Given the description of an element on the screen output the (x, y) to click on. 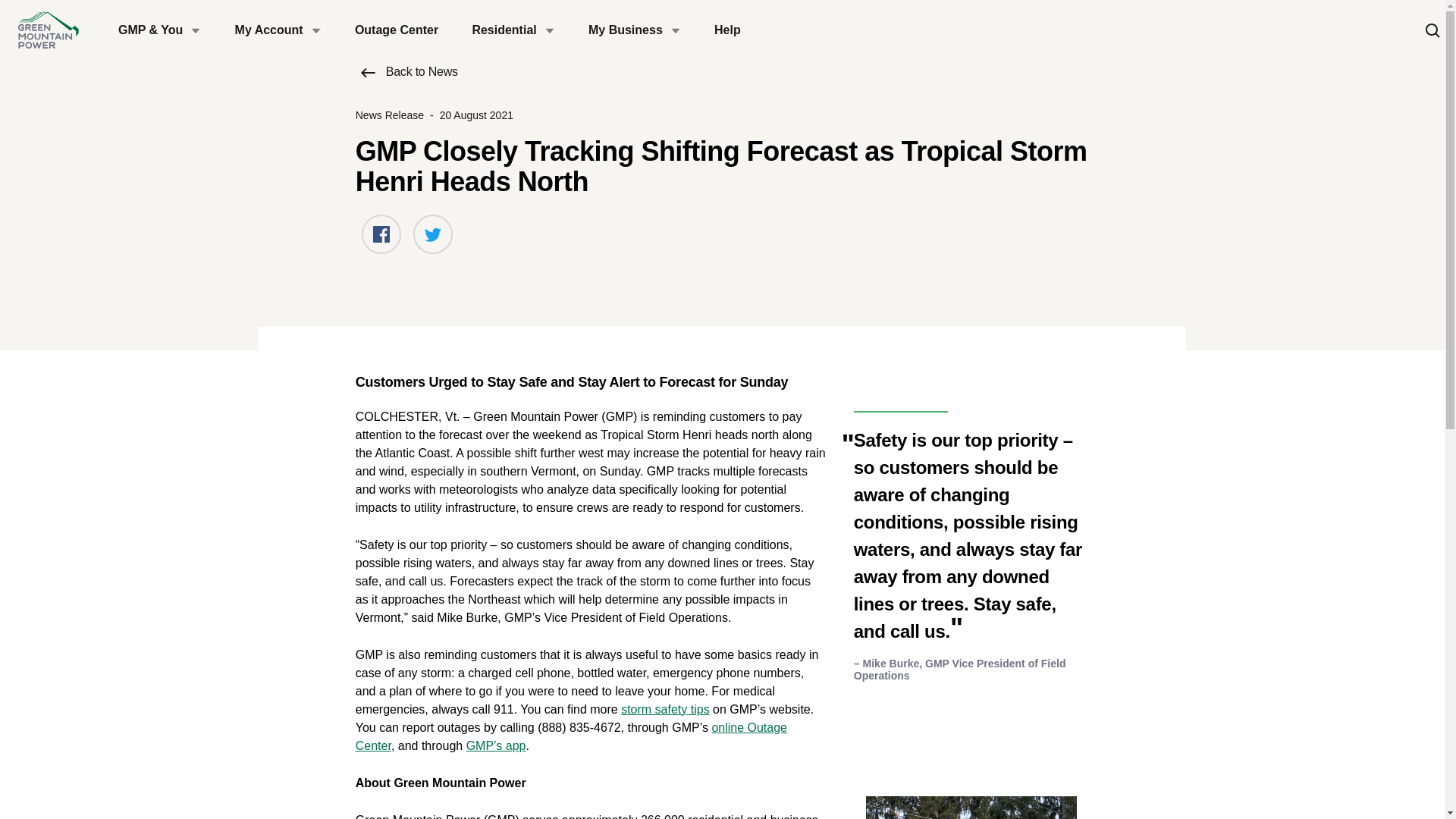
My Account (277, 30)
Residential (513, 30)
My Business (634, 30)
My Account (277, 30)
Outage Center (395, 30)
Help (726, 30)
